Given the description of an element on the screen output the (x, y) to click on. 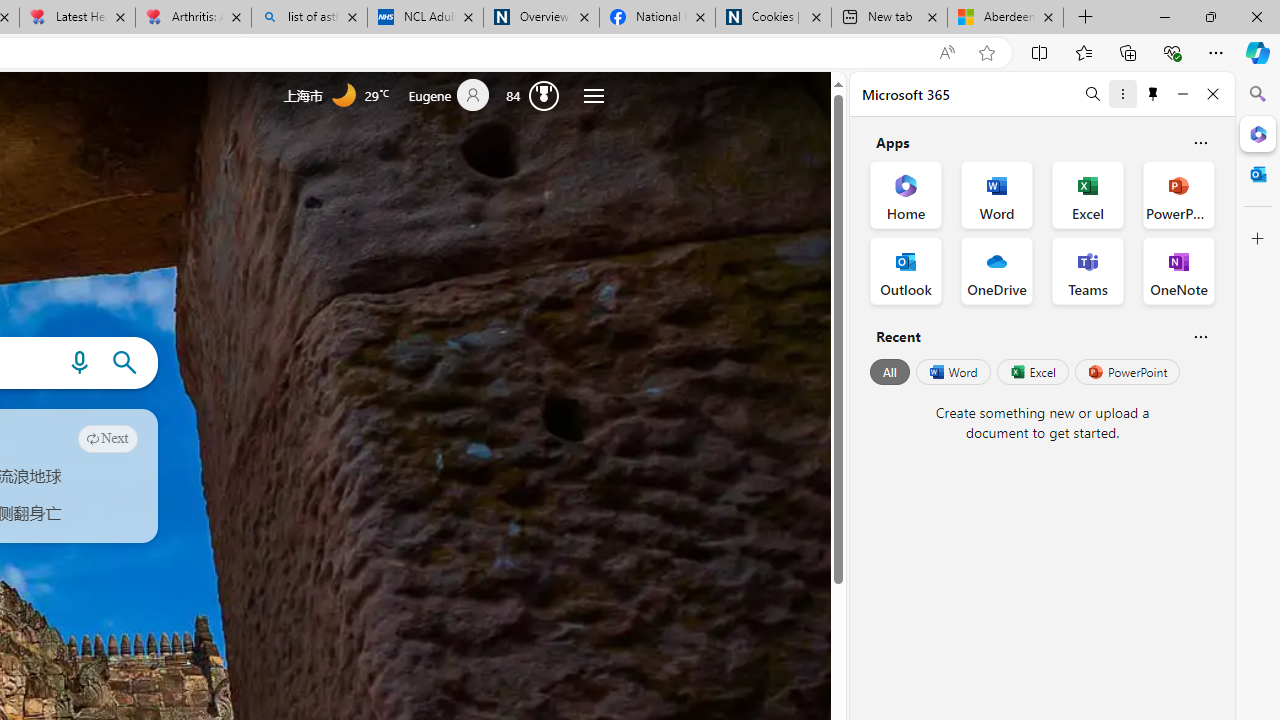
Search using voice (79, 363)
Aberdeen, Hong Kong SAR hourly forecast | Microsoft Weather (1005, 17)
Cookies | About | NICE (772, 17)
Eugene (457, 95)
AutomationID: rh_meter (543, 94)
PowerPoint (1127, 372)
OneNote Office App (1178, 270)
